Given the description of an element on the screen output the (x, y) to click on. 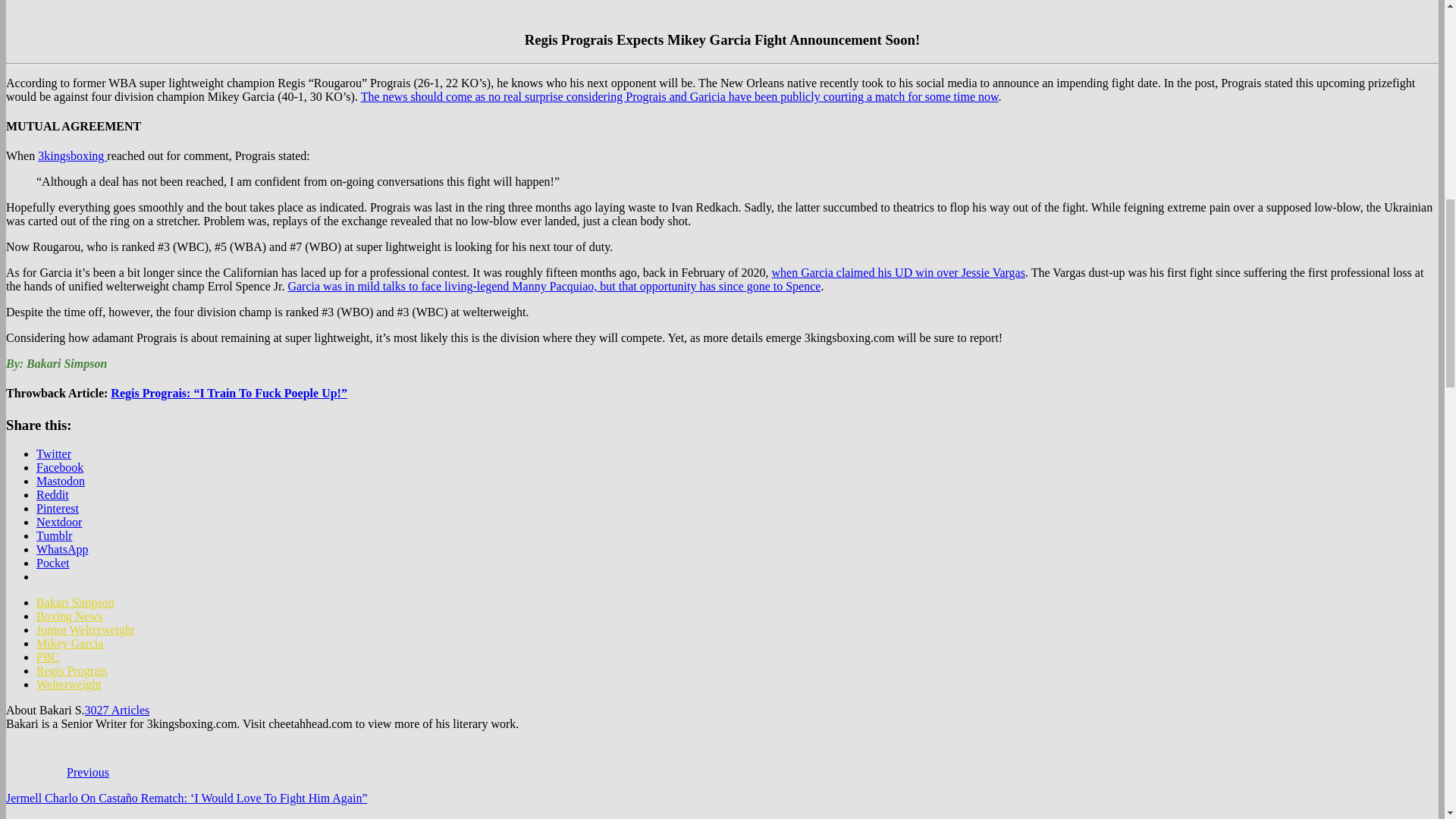
when Garcia claimed his UD win over Jessie Vargas (898, 272)
3kingsboxing (71, 155)
